Given the description of an element on the screen output the (x, y) to click on. 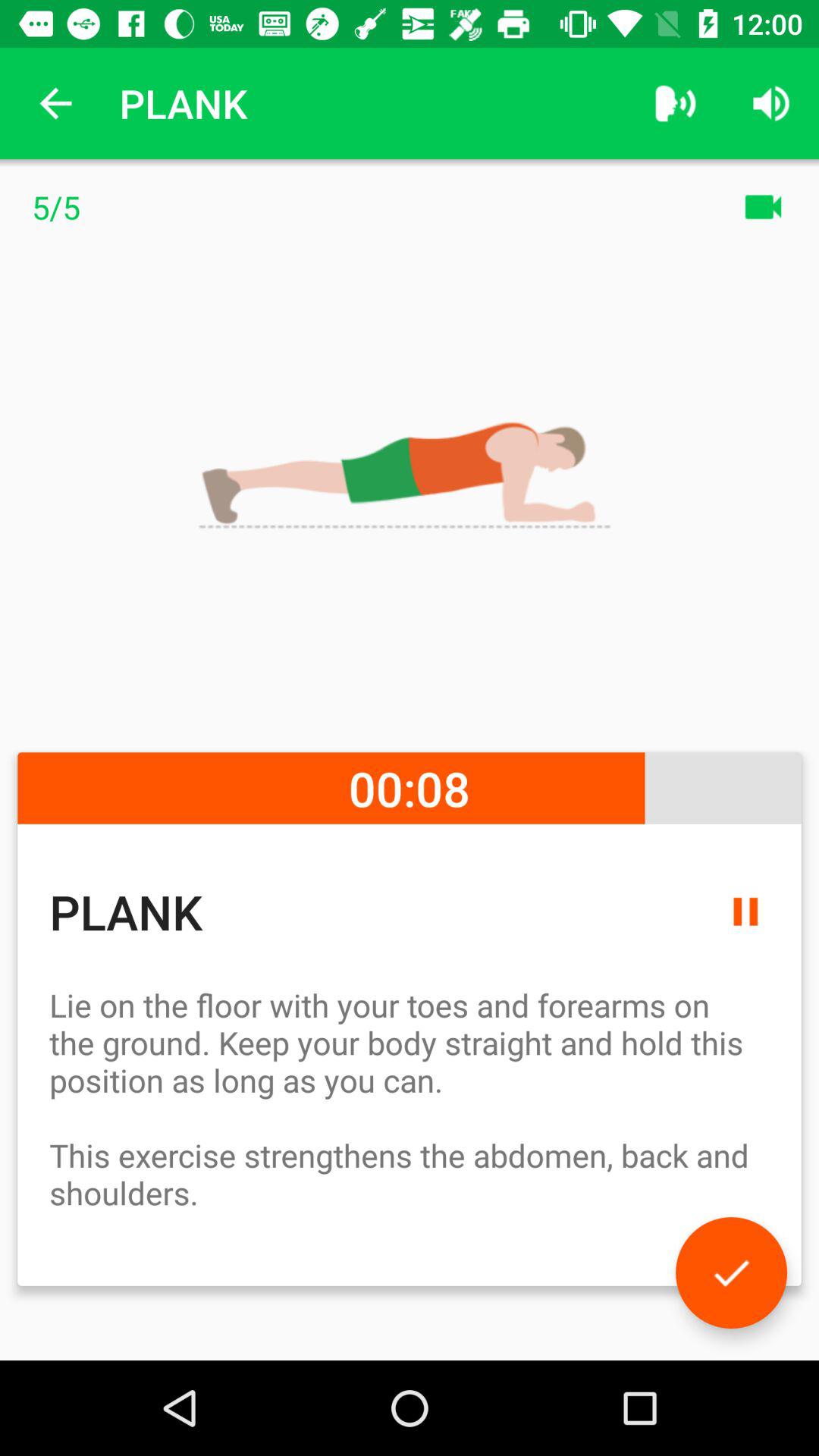
select excercise (731, 1272)
